Given the description of an element on the screen output the (x, y) to click on. 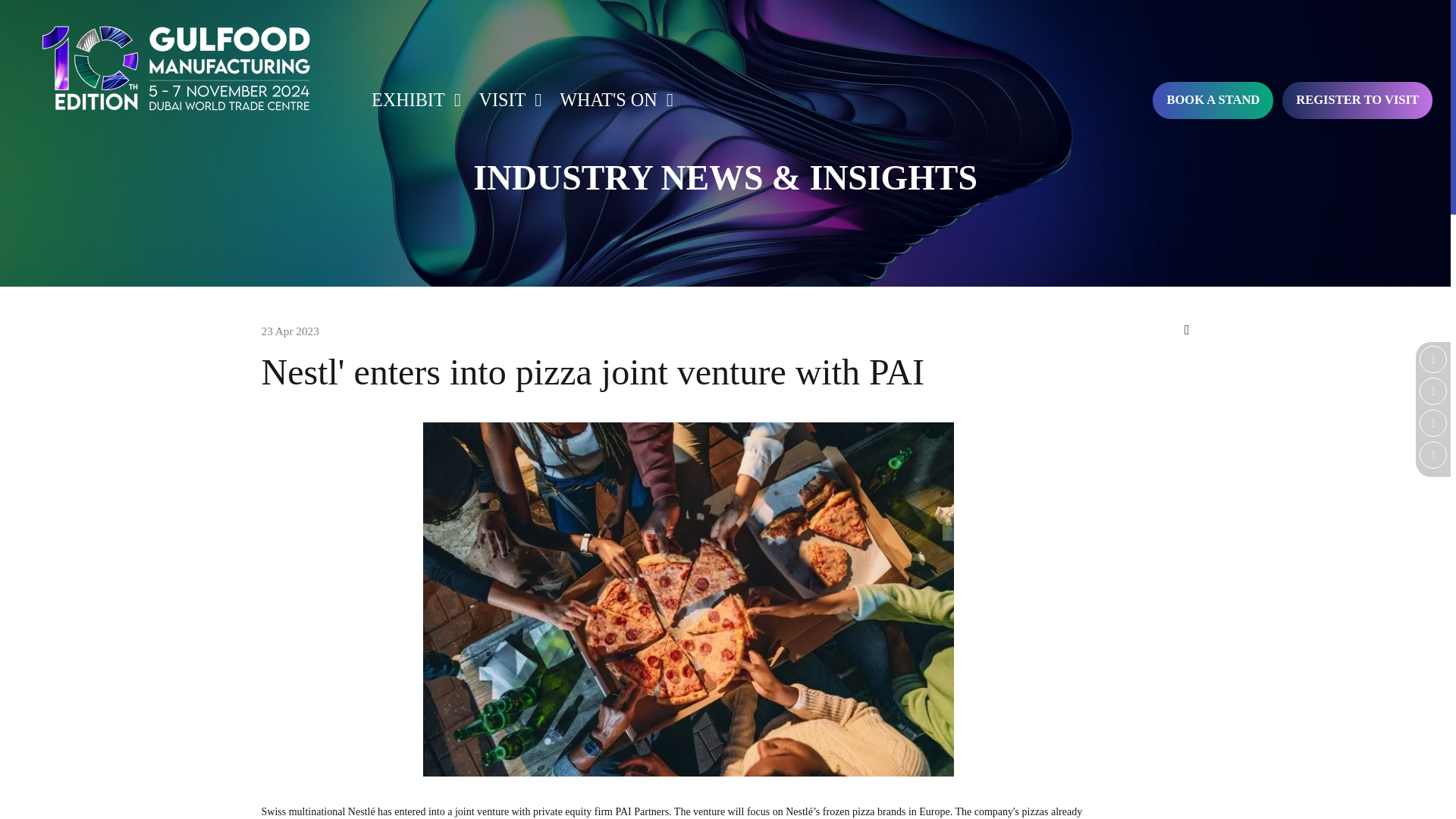
VISIT (505, 100)
REGISTER TO VISIT (1357, 99)
BOOK A STAND (1212, 99)
EXHIBIT (411, 100)
